Given the description of an element on the screen output the (x, y) to click on. 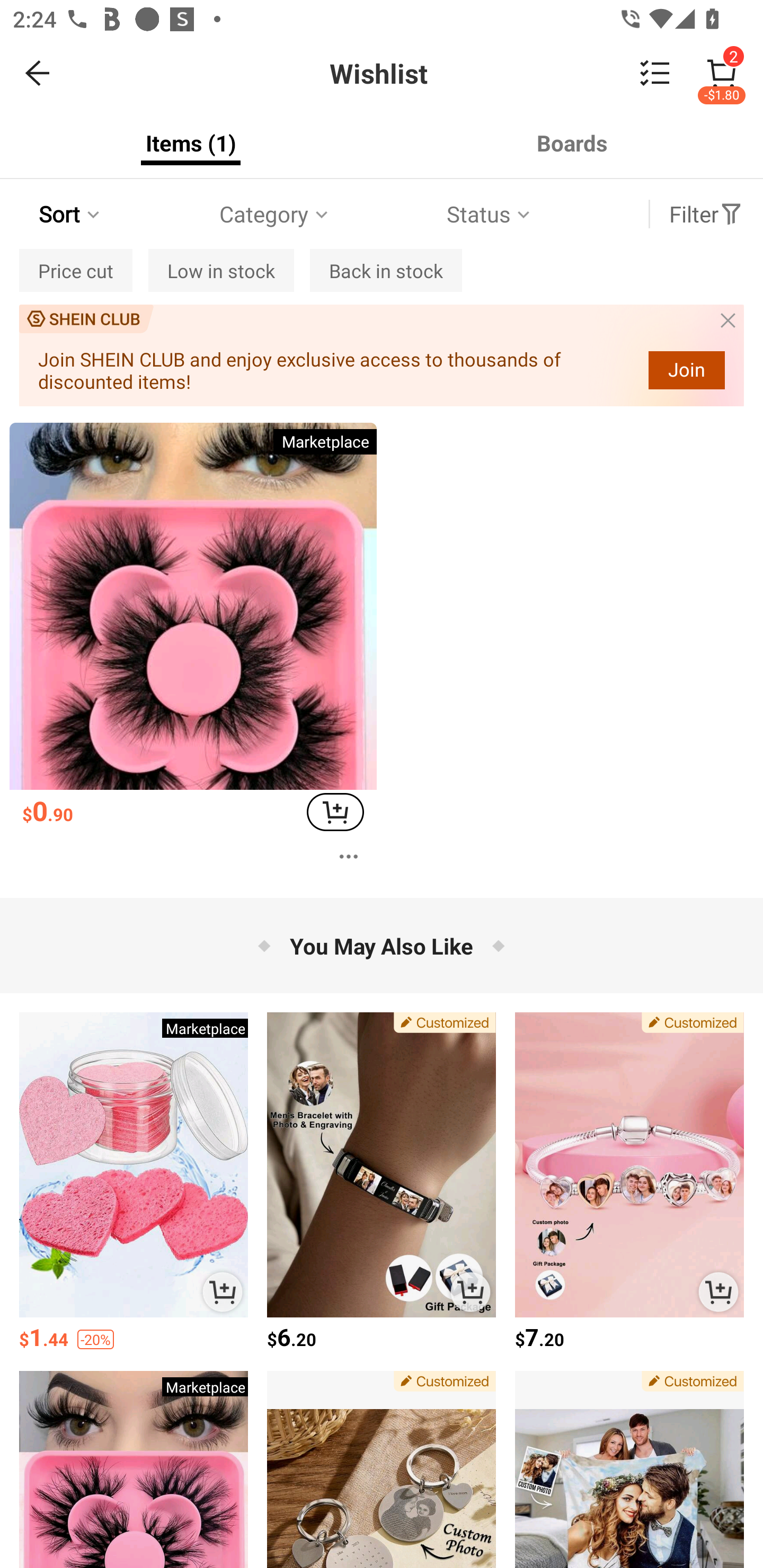
Wishlist change view 2 -$1.80 (419, 72)
2 -$1.80 (721, 72)
change view (654, 72)
BACK (38, 72)
Items (1) (190, 143)
Boards (572, 143)
Sort (70, 213)
Category (275, 213)
Status (489, 213)
Filter (705, 213)
Price cut (75, 270)
Low in stock (220, 270)
Back in stock (385, 270)
ADD TO CART (334, 812)
You May Also Like (381, 945)
ADD TO CART (221, 1291)
ADD TO CART (469, 1291)
ADD TO CART (717, 1291)
